Given the description of an element on the screen output the (x, y) to click on. 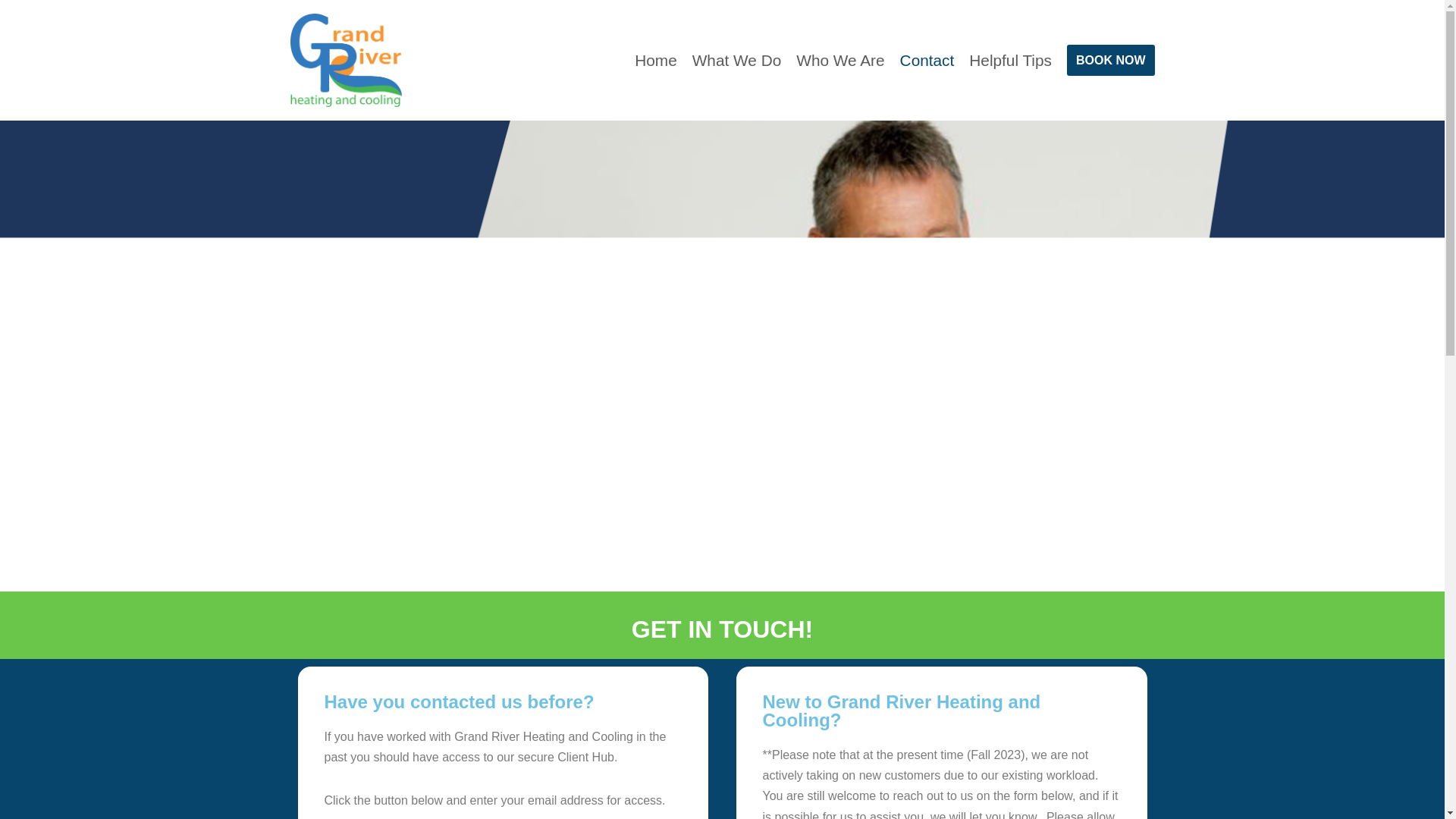
Who We Are (839, 59)
Skip to content (11, 31)
What We Do (737, 59)
BOOK NOW (1110, 60)
Contact (927, 59)
Helpful Tips (1010, 59)
Home (655, 59)
Grand River Heating (345, 60)
